Given the description of an element on the screen output the (x, y) to click on. 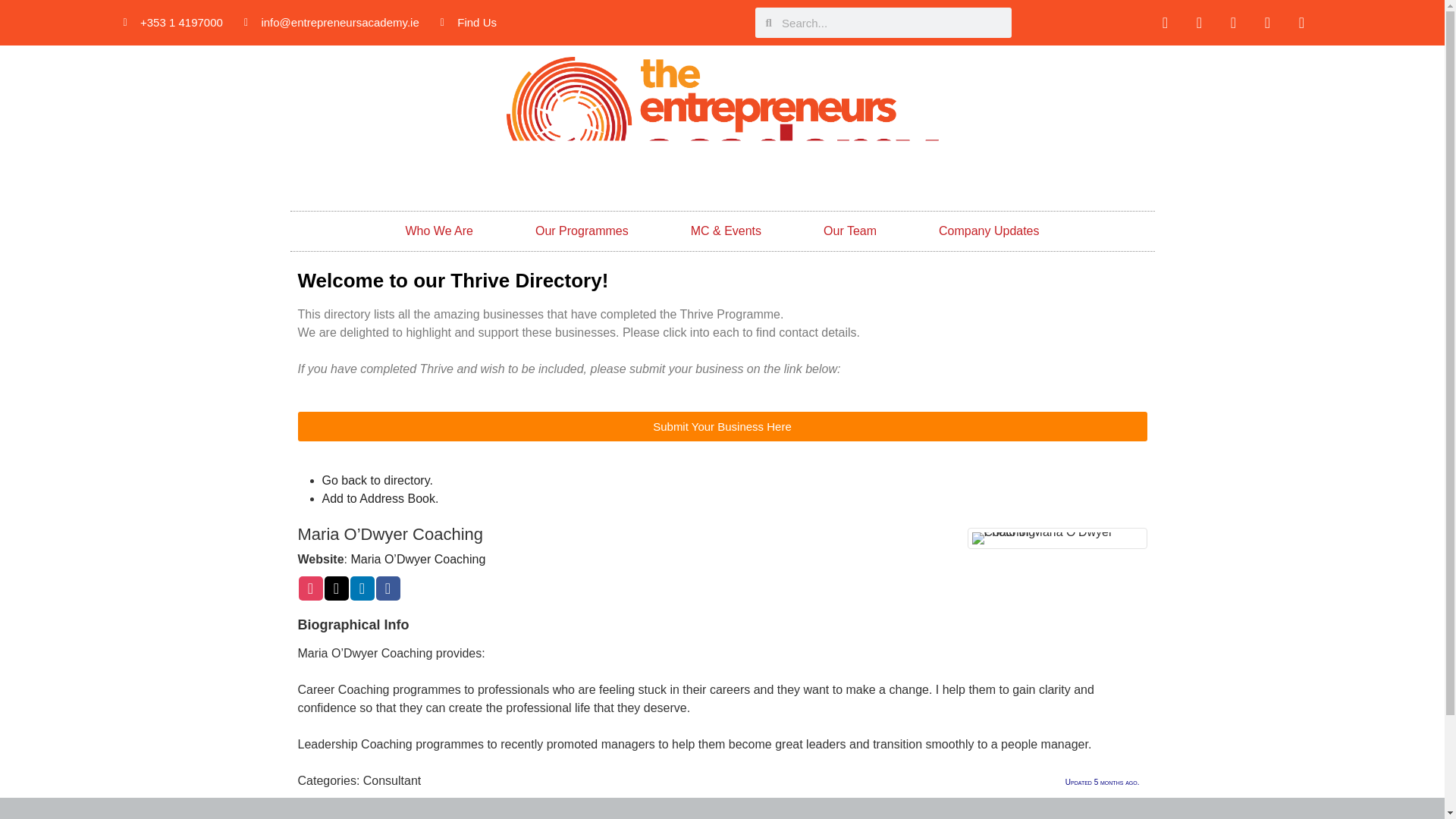
Our Programmes (581, 230)
Download vCard (379, 498)
Who We Are (438, 230)
Find Us (468, 22)
